Given the description of an element on the screen output the (x, y) to click on. 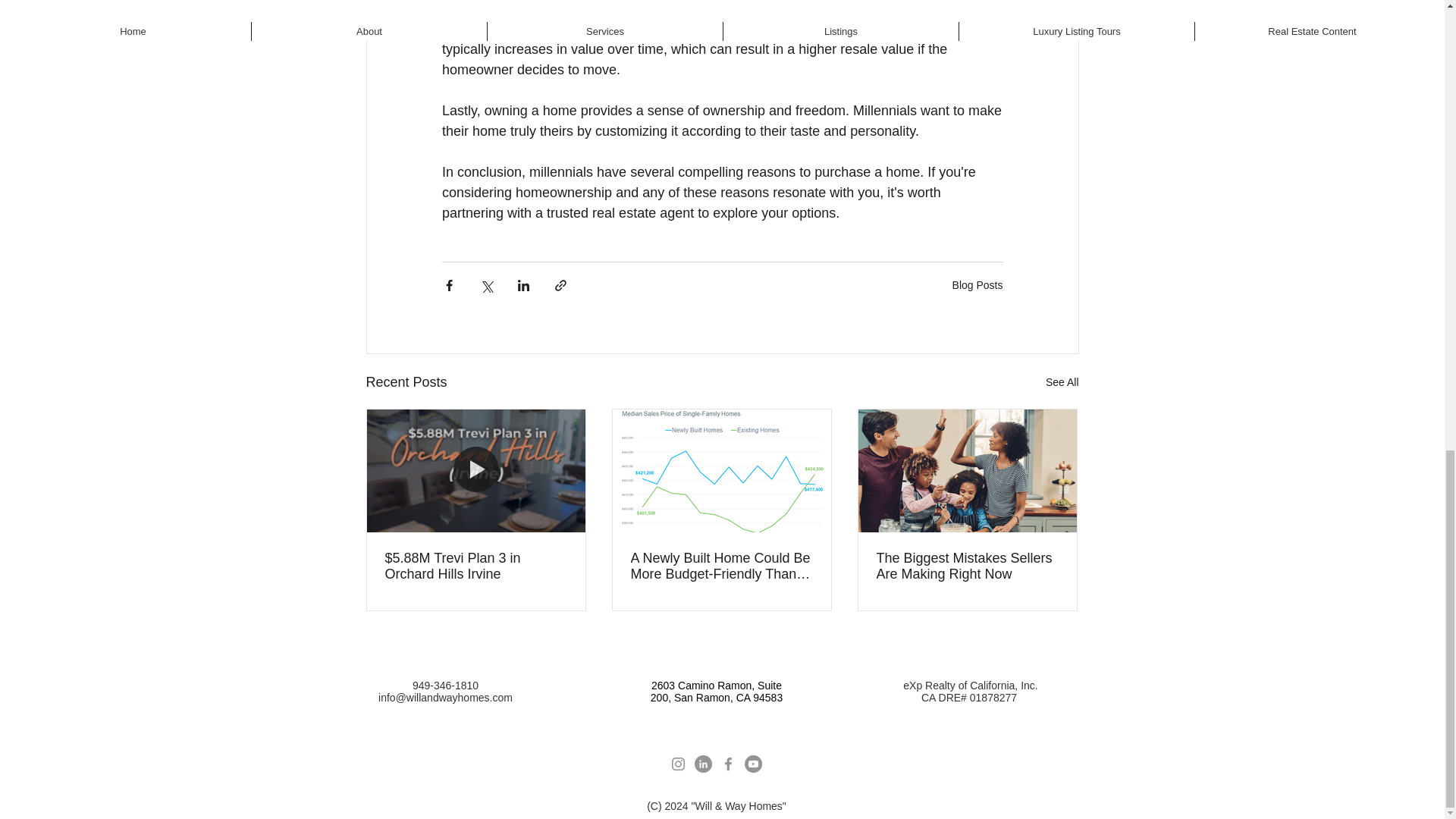
Blog Posts (977, 285)
See All (1061, 382)
The Biggest Mistakes Sellers Are Making Right Now (967, 566)
